Given the description of an element on the screen output the (x, y) to click on. 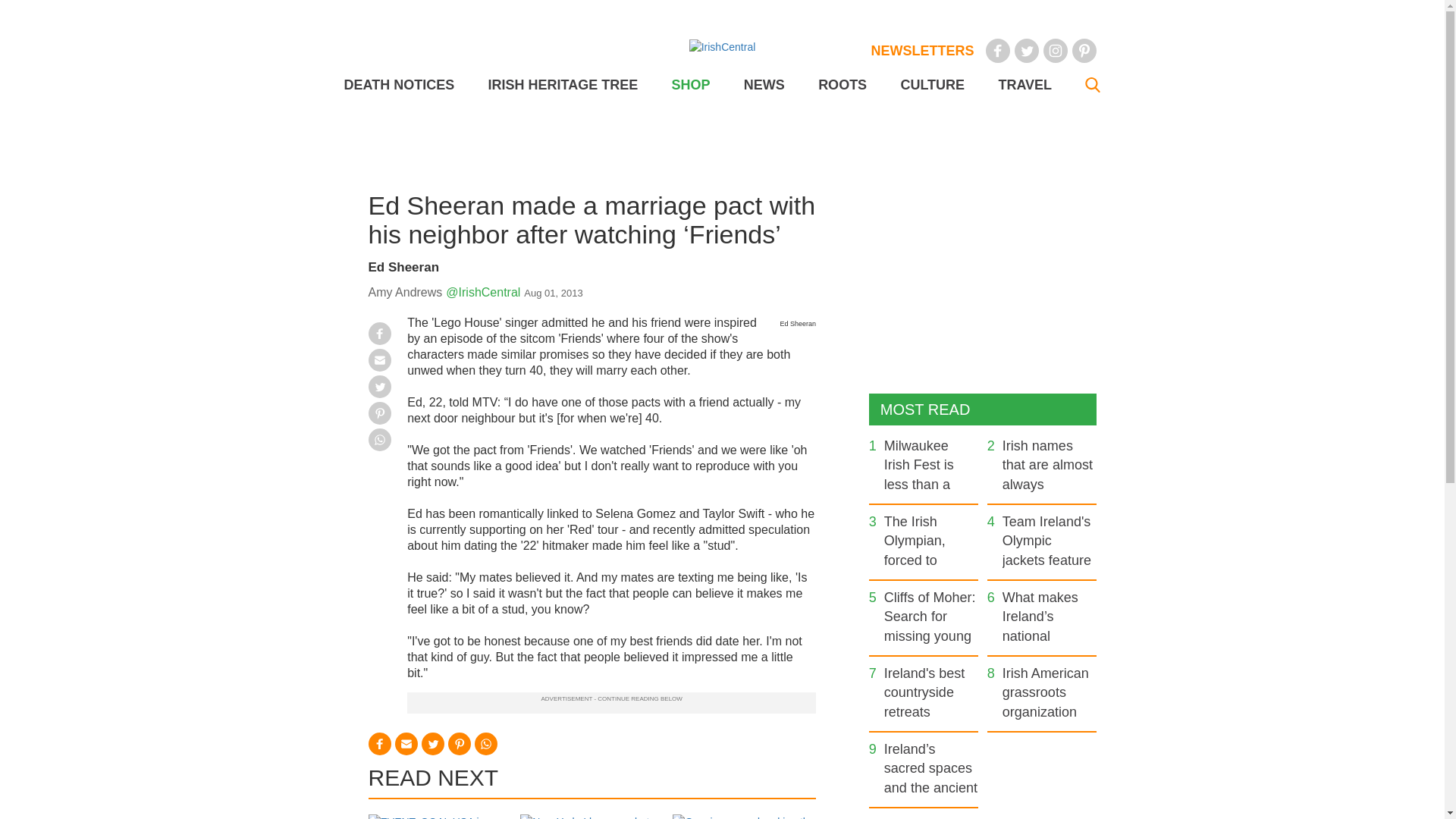
IRISH HERITAGE TREE (562, 84)
CULTURE (931, 84)
TRAVEL (1024, 84)
DEATH NOTICES (398, 84)
NEWS (764, 84)
ROOTS (842, 84)
SHOP (690, 84)
NEWSLETTERS (922, 50)
